Given the description of an element on the screen output the (x, y) to click on. 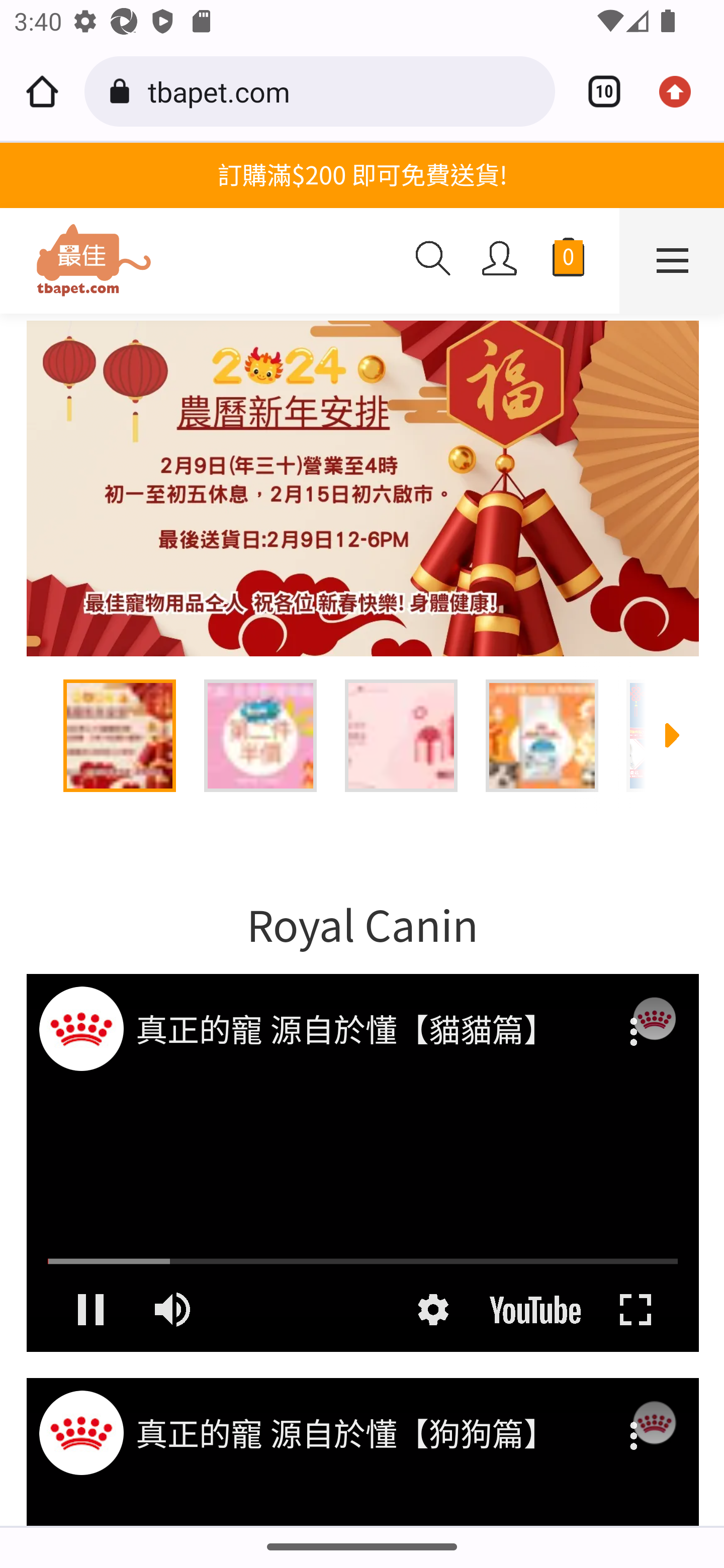
Home (42, 91)
Connection is secure (122, 91)
Switch or close tabs (597, 91)
Update available. More options (681, 91)
tbapet.com (343, 90)
450x (200, 260)
sign_in (499, 258)
0 (567, 260)
•  (362, 488)
More (635, 1019)
Photo image of Royal Canin HK (80, 1027)
真正的寵 源自於懂【貓貓篇】 (364, 1030)
Pause (89, 1308)
Mute (173, 1308)
Settings (432, 1308)
Watch on YouTube (534, 1308)
Full screen (635, 1308)
More (635, 1423)
Photo image of Royal Canin HK (80, 1432)
真正的寵 源自於懂【狗狗篇】 (364, 1436)
